Given the description of an element on the screen output the (x, y) to click on. 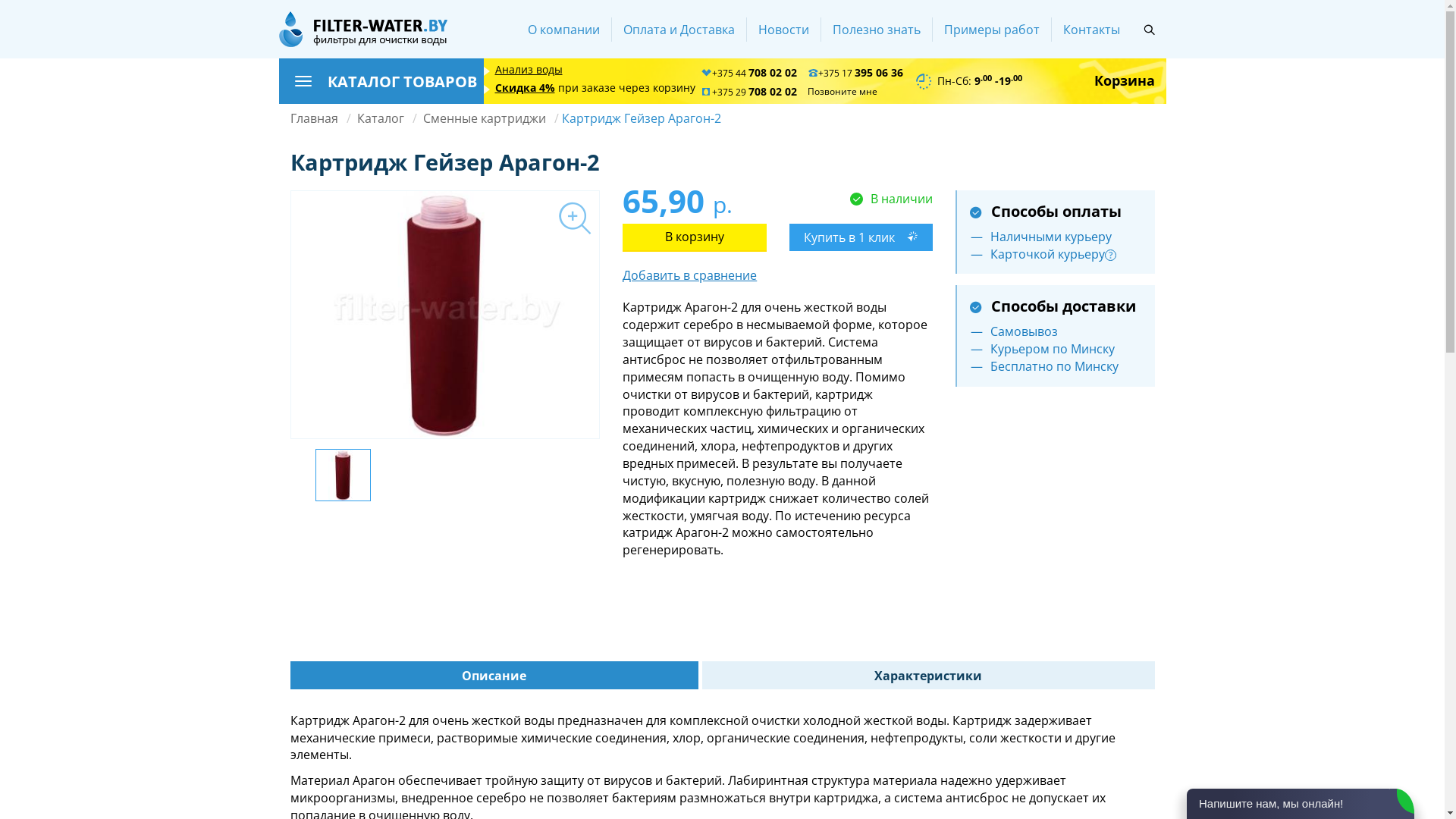
Toggle navigation Element type: text (303, 81)
+375 17 395 06 36 Element type: text (854, 72)
+375 29 708 02 02 Element type: text (748, 91)
? Element type: text (1110, 254)
+375 44 708 02 02 Element type: text (748, 72)
